Given the description of an element on the screen output the (x, y) to click on. 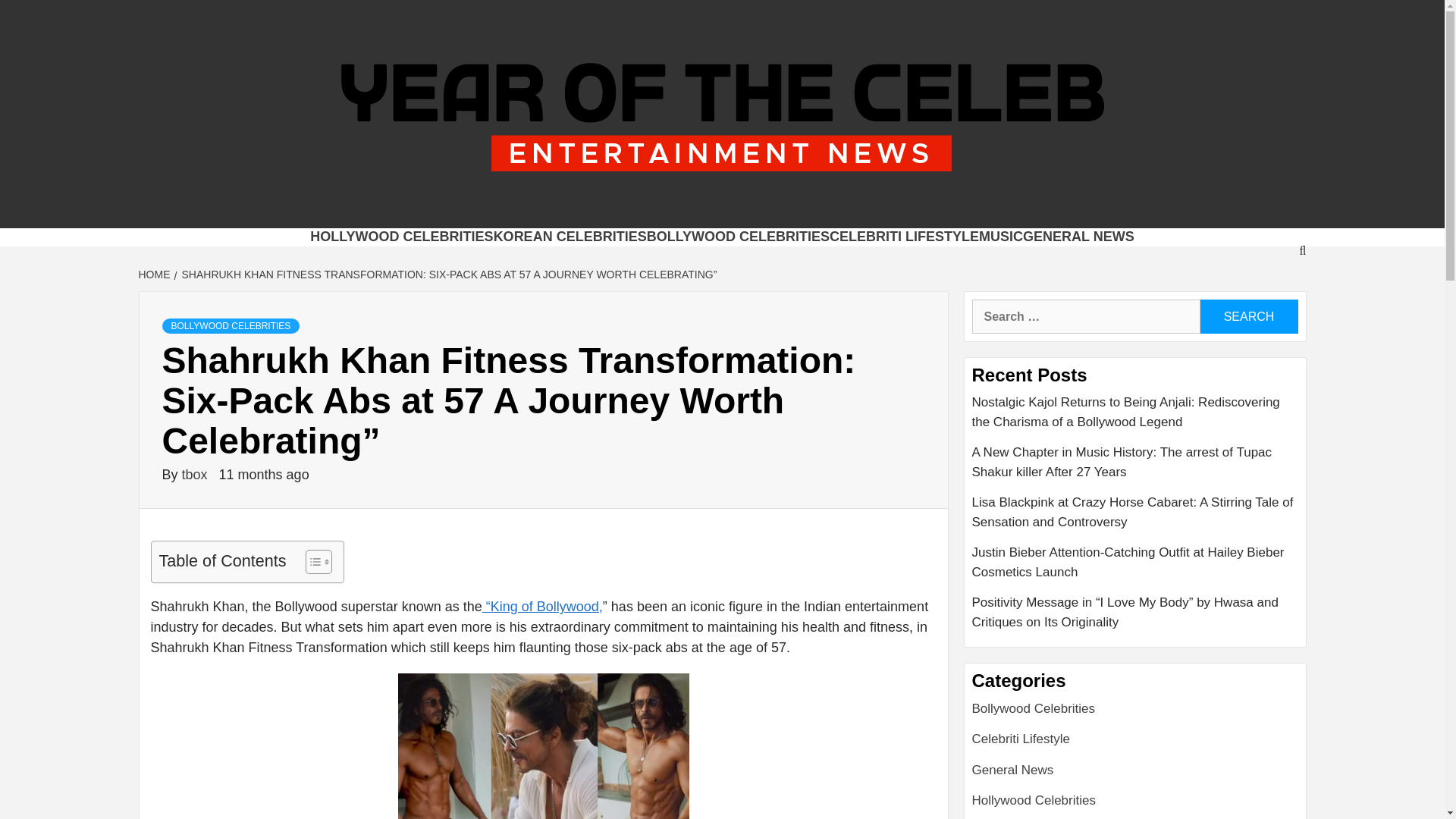
Search (1248, 316)
Search (1248, 316)
Celebriti Lifestyle (1021, 739)
GENERAL NEWS (1078, 236)
CELEBRITI LIFESTYLE (903, 236)
General News (1013, 769)
Search (1248, 316)
KOREAN CELEBRITIES (569, 236)
Bollywood Celebrities (1034, 708)
tbox (196, 474)
BOLLYWOOD CELEBRITIES (737, 236)
HOLLYWOOD CELEBRITIES (401, 236)
